Given the description of an element on the screen output the (x, y) to click on. 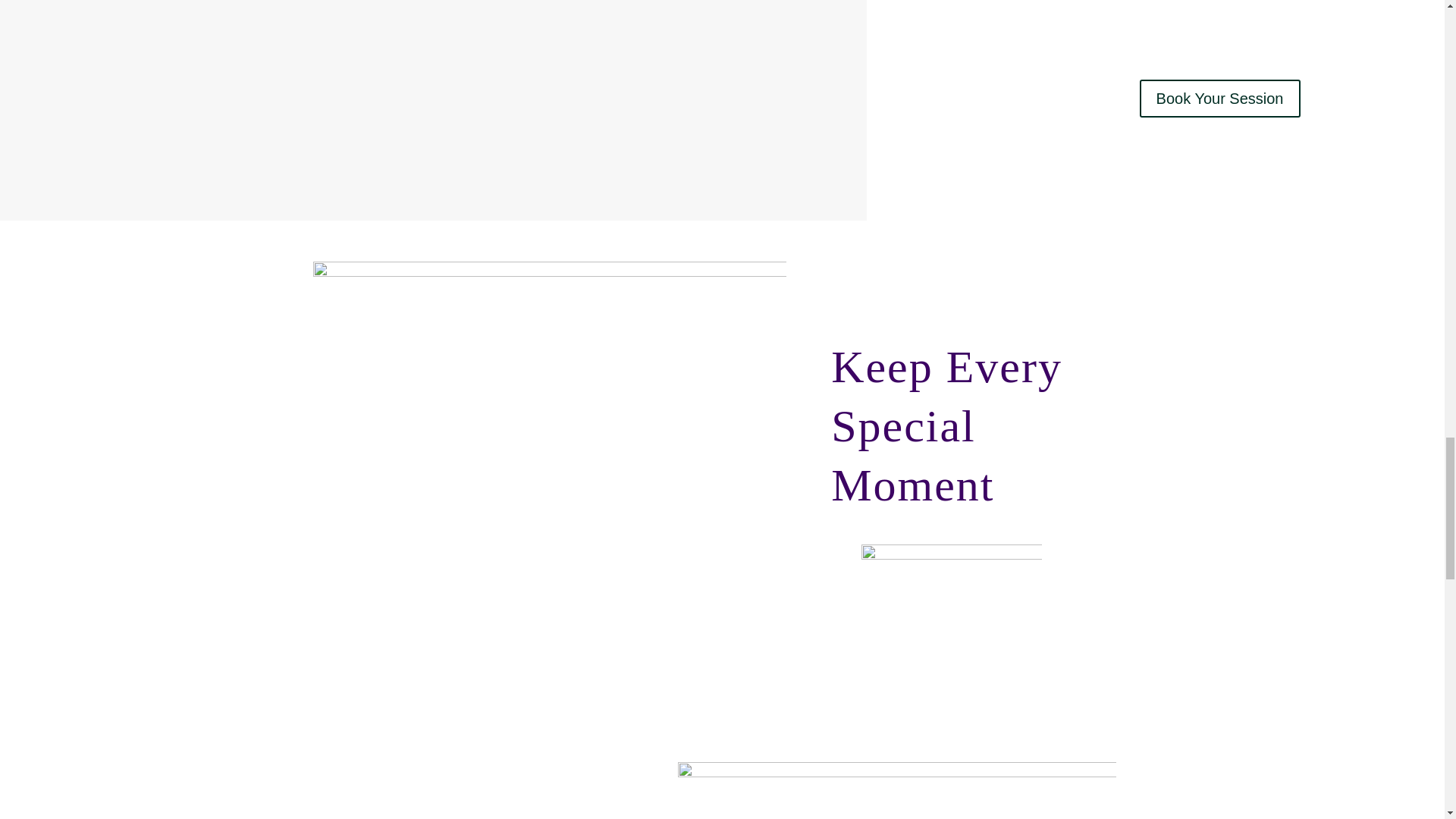
Book Your Session (1220, 98)
039A0952 (897, 790)
039A9433-Bearbeitet (951, 616)
